Given the description of an element on the screen output the (x, y) to click on. 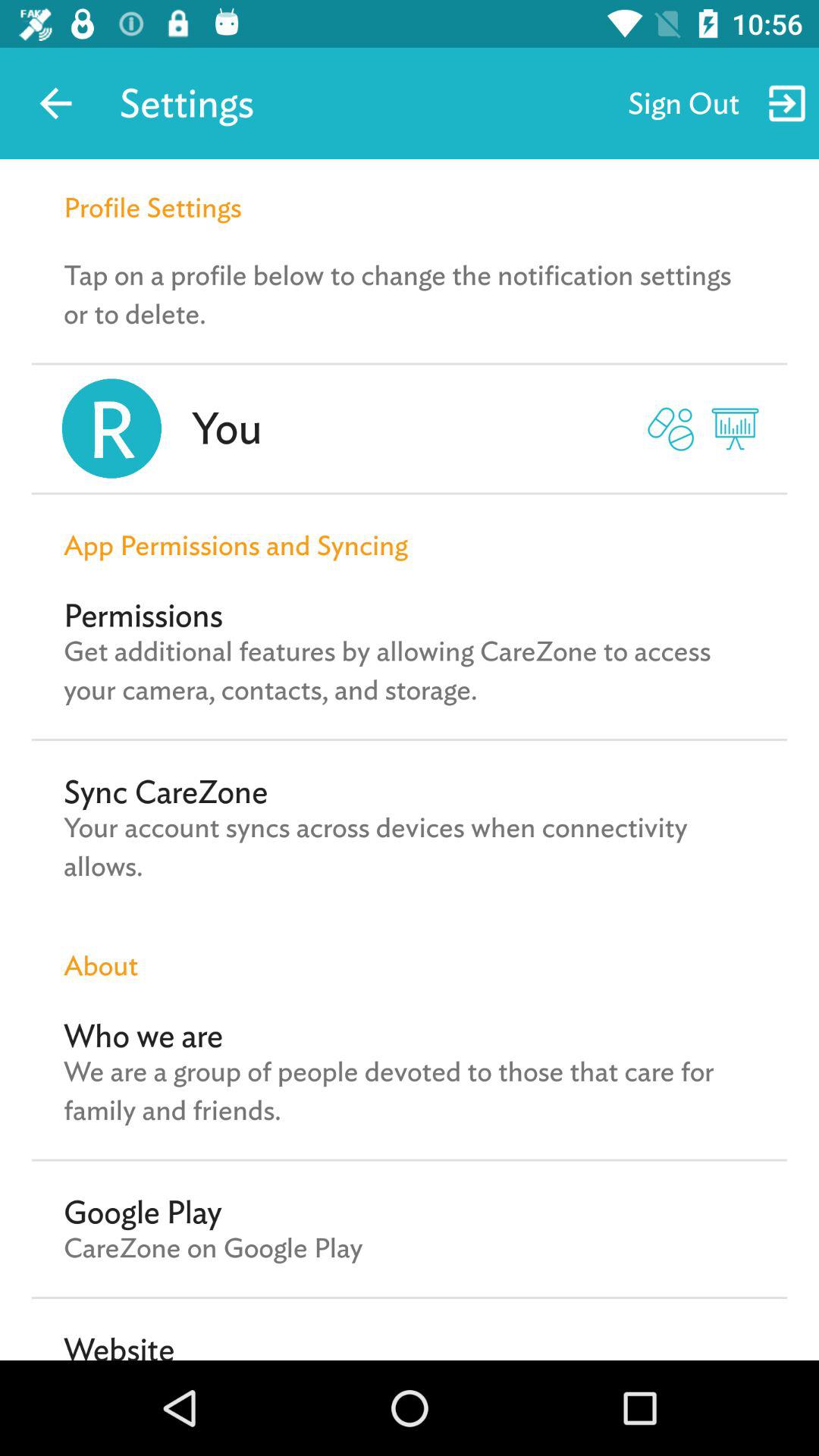
jump until the app permissions and item (409, 529)
